Given the description of an element on the screen output the (x, y) to click on. 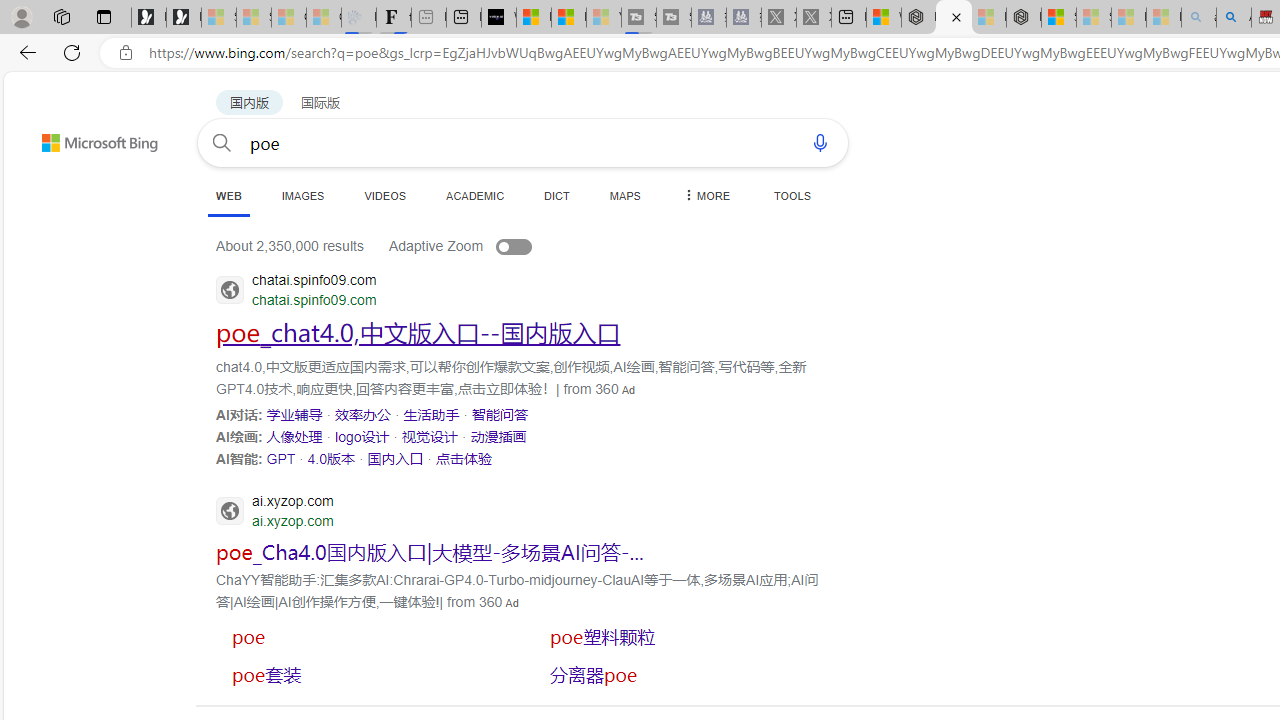
ACADEMIC (475, 195)
SERP,5582 (683, 636)
poe - Search (954, 17)
Dropdown Menu (705, 195)
Search button (221, 142)
SERP,5562 (294, 414)
DICT (557, 195)
Adaptive Zoom (480, 245)
Search (221, 142)
amazon - Search - Sleeping (1198, 17)
Amazon Echo Dot PNG - Search Images (1233, 17)
Search using voice (820, 142)
